Given the description of an element on the screen output the (x, y) to click on. 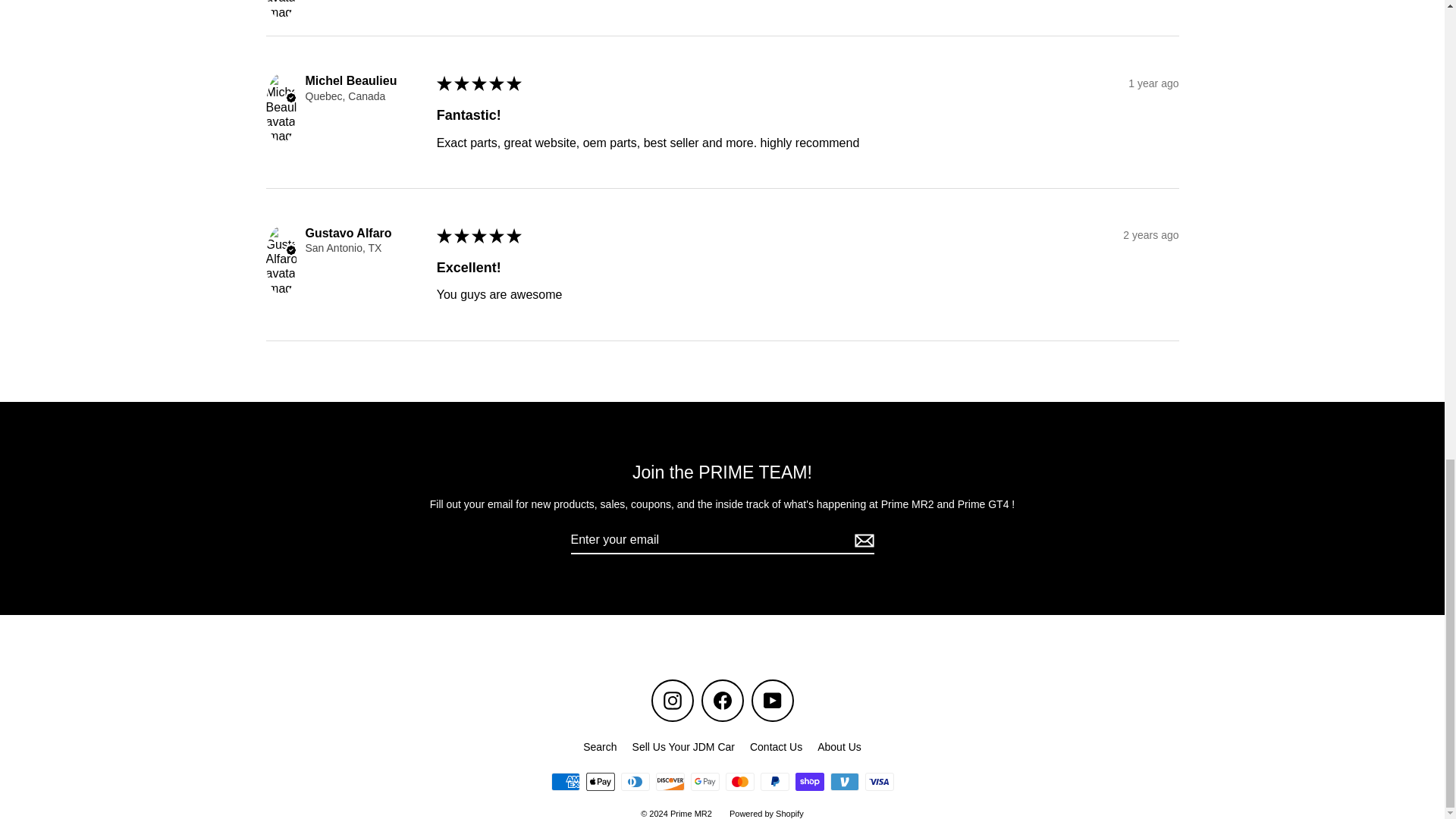
Diners Club (634, 782)
Google Pay (704, 782)
Mastercard (739, 782)
Prime MR2 on Facebook (721, 700)
Apple Pay (599, 782)
American Express (564, 782)
Prime MR2 on YouTube (772, 700)
Discover (669, 782)
Prime MR2 on Instagram (671, 700)
